Given the description of an element on the screen output the (x, y) to click on. 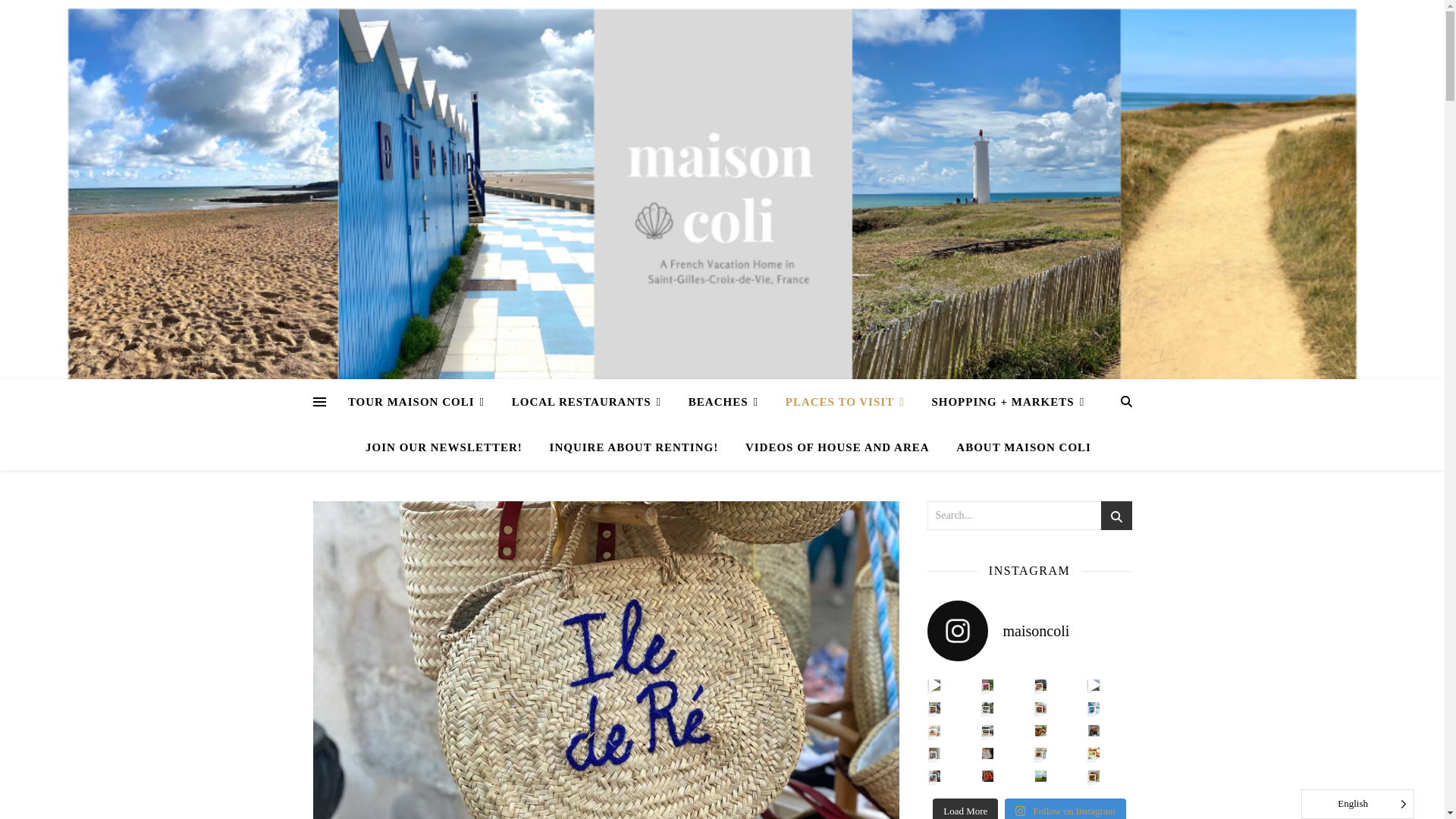
TOUR MAISON COLI (421, 402)
LOCAL RESTAURANTS (585, 402)
BEACHES (723, 402)
VIDEOS OF HOUSE AND AREA (837, 447)
ABOUT MAISON COLI (1016, 447)
PLACES TO VISIT (845, 402)
JOIN OUR NEWSLETTER! (443, 447)
INQUIRE ABOUT RENTING! (633, 447)
